Given the description of an element on the screen output the (x, y) to click on. 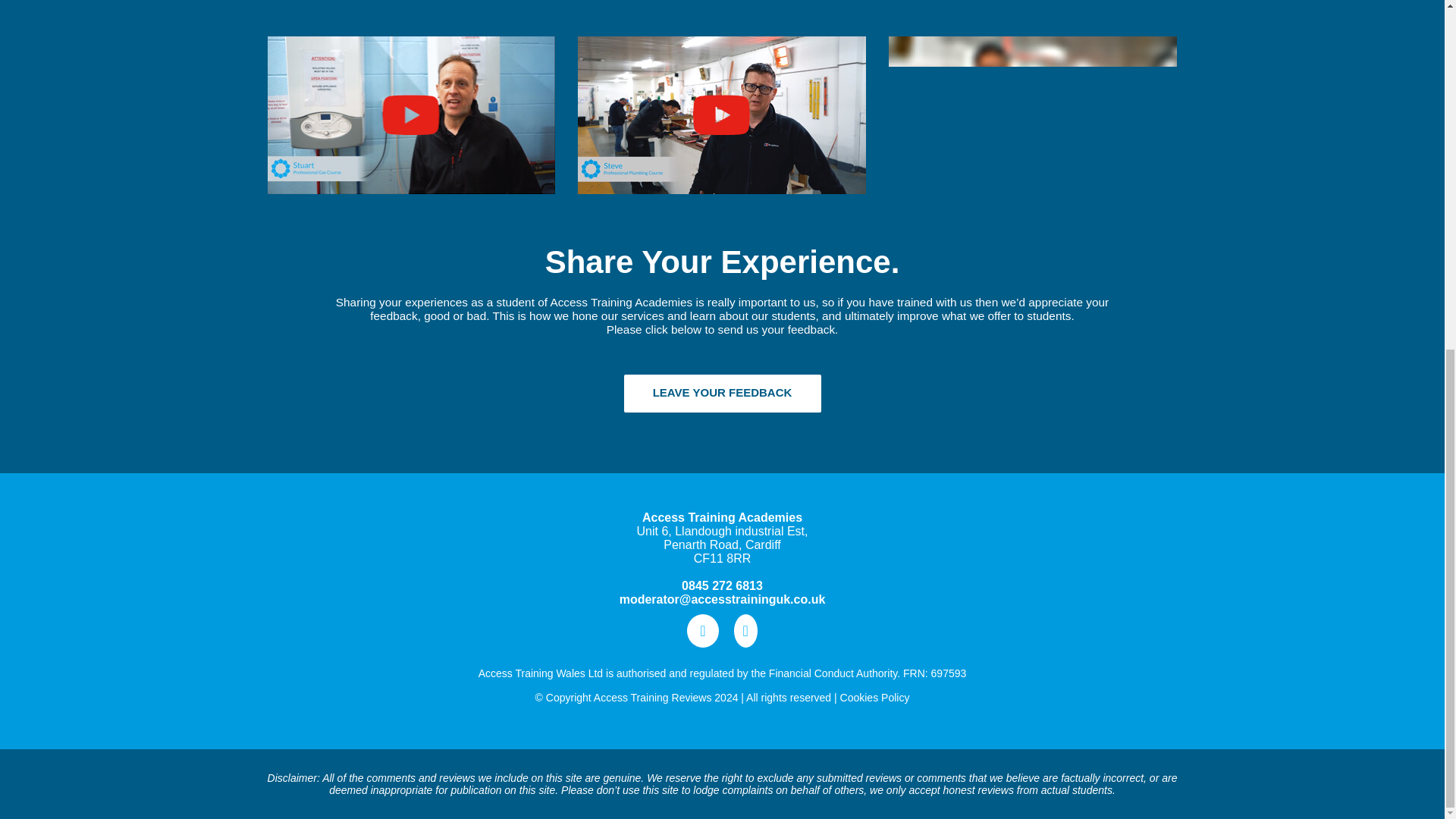
Cookies Policy (875, 697)
Pluming Review - Carlos (1032, 115)
Gas Review - Stu (410, 115)
Plumbing Review - Steve (722, 115)
Cookies Policy (875, 697)
0845 272 6813 (721, 585)
call us today on 0845 272 6813 (721, 585)
